Given the description of an element on the screen output the (x, y) to click on. 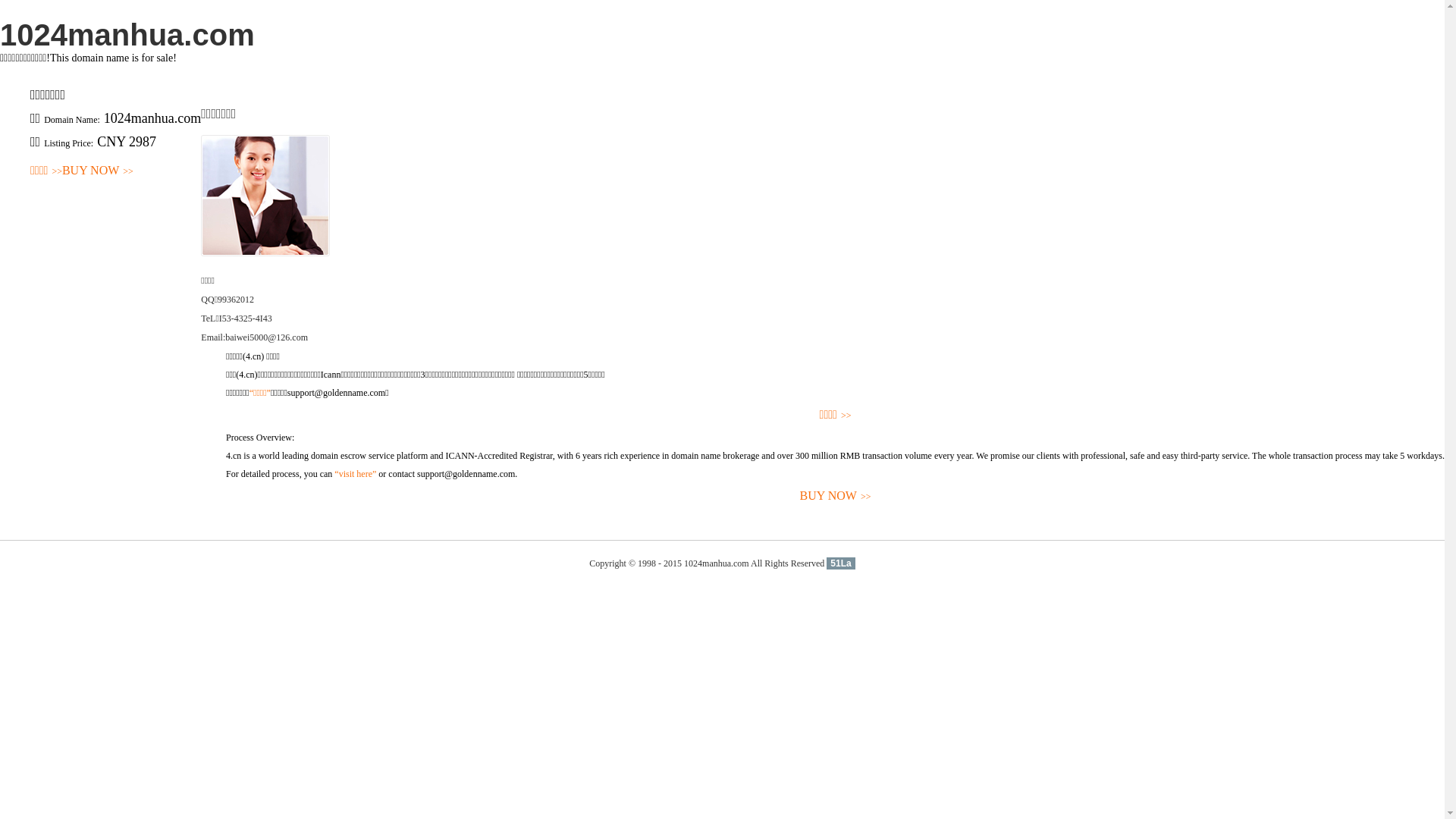
51La Element type: text (840, 563)
BUY NOW>> Element type: text (834, 496)
BUY NOW>> Element type: text (97, 170)
